Given the description of an element on the screen output the (x, y) to click on. 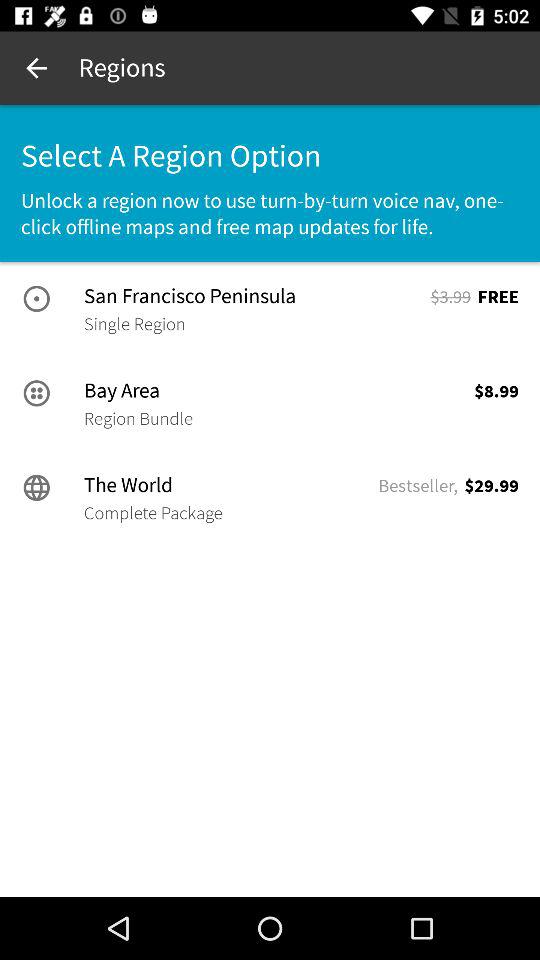
choose the item next to bestseller, icon (153, 513)
